Given the description of an element on the screen output the (x, y) to click on. 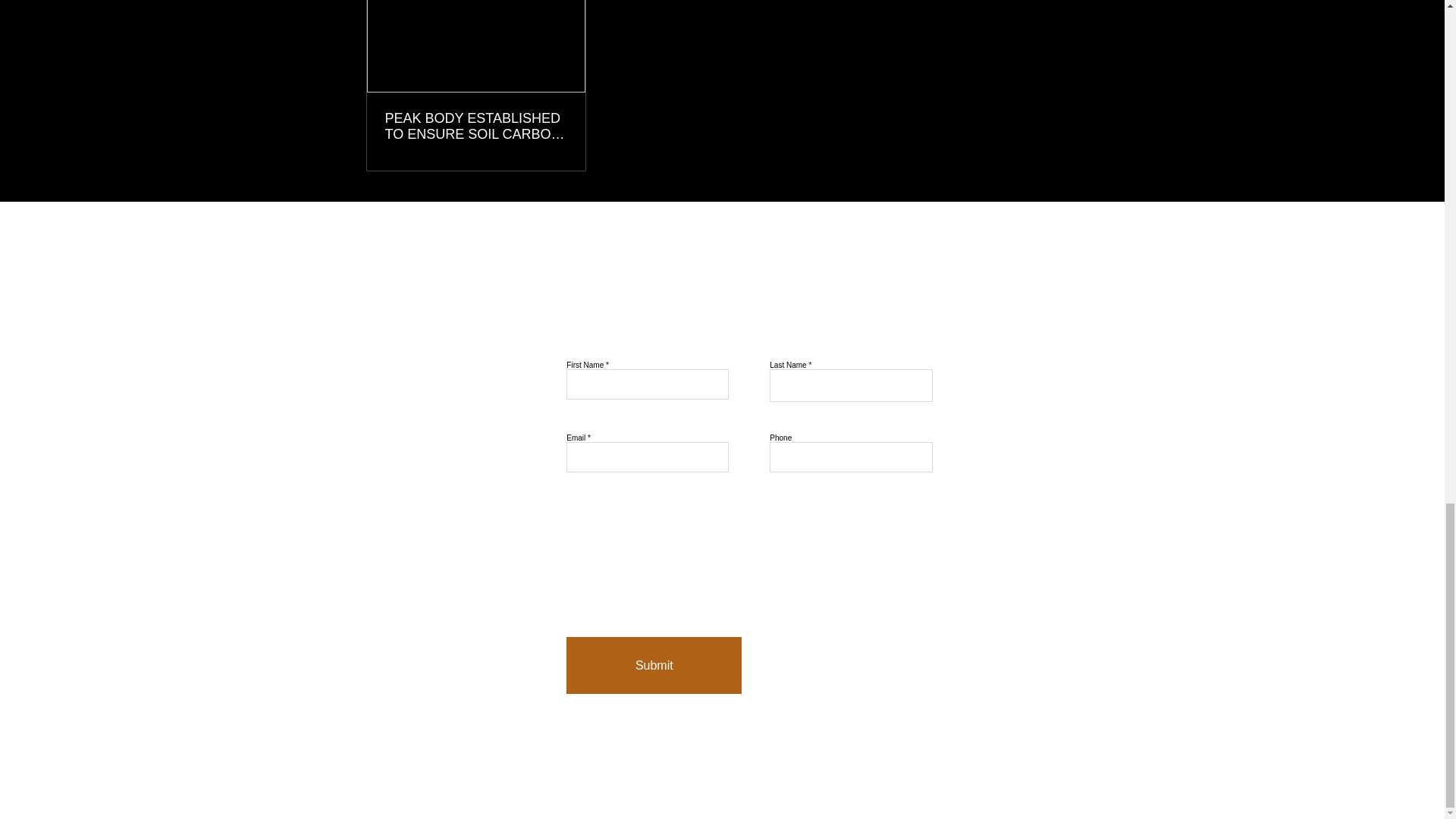
Submit (653, 665)
